Given the description of an element on the screen output the (x, y) to click on. 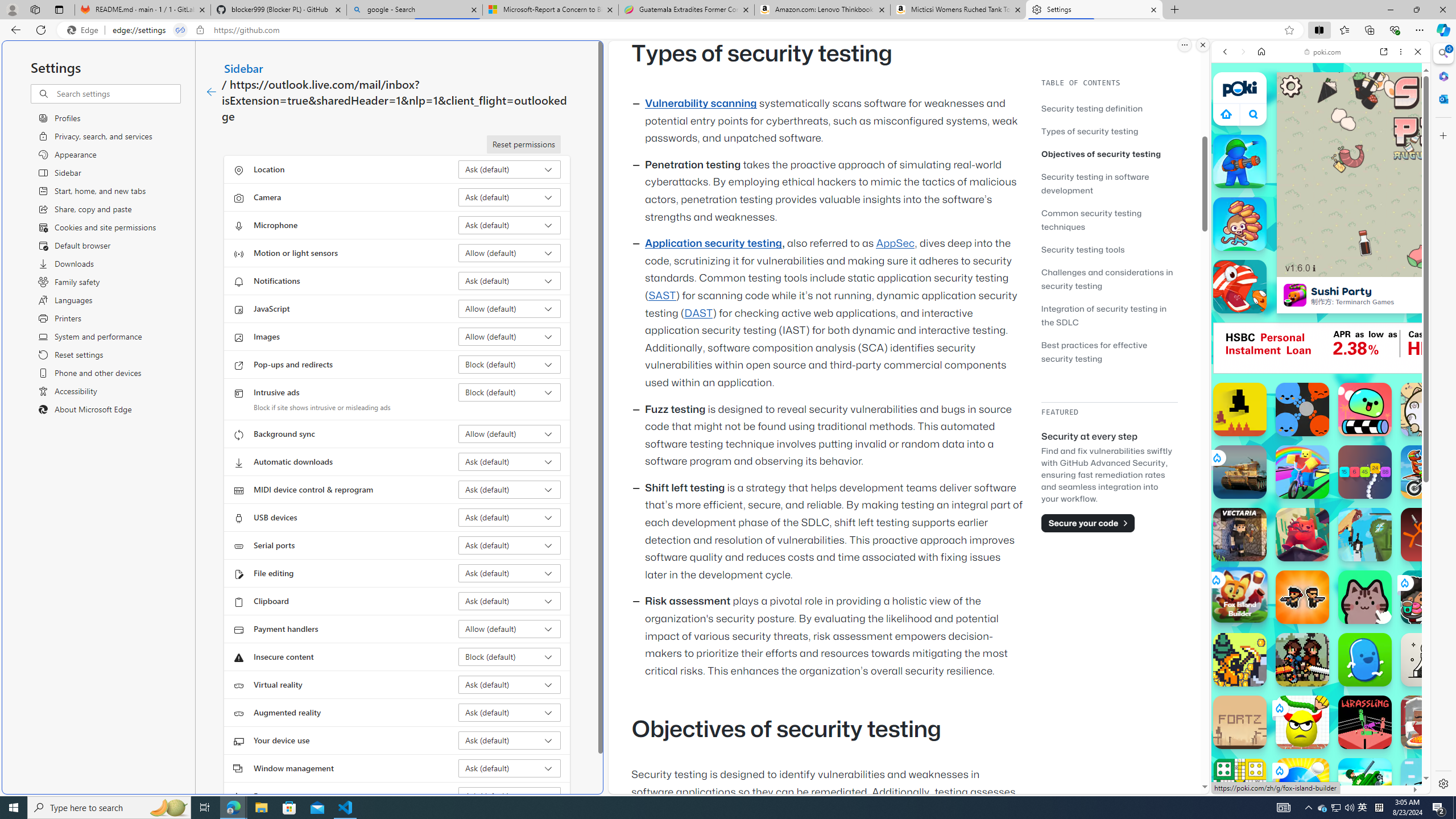
Level Devil (1239, 409)
Class: rCs5cyEiqiTpYvt_VBCR (1279, 770)
Hypersnake Hypersnake (1364, 471)
Secure your code (1088, 522)
Combat Reloaded Combat Reloaded poki.com (1349, 548)
Security testing in software development (1109, 183)
Car Games (1320, 267)
Class: B_5ykBA46kDOxiz_R9wm (1253, 113)
Rainbow Obby Rainbow Obby (1302, 471)
Monkey Mart Monkey Mart (1239, 223)
Integration of security testing in the SDLC (1109, 315)
Tabs in split screen (180, 29)
Vulnerability scanning (701, 103)
